Given the description of an element on the screen output the (x, y) to click on. 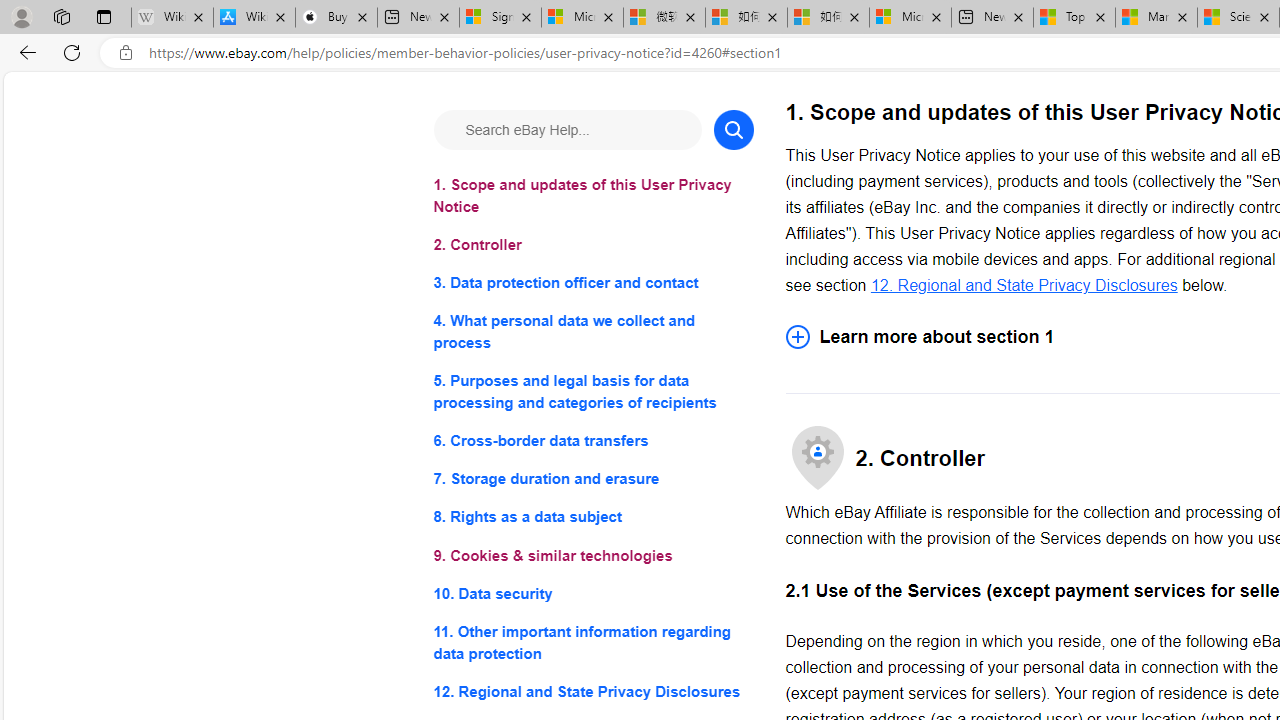
Search eBay Help... (566, 129)
4. What personal data we collect and process (592, 332)
2. Controller (592, 245)
3. Data protection officer and contact (592, 283)
Microsoft account | Account Checkup (910, 17)
3. Data protection officer and contact (592, 283)
10. Data security (592, 592)
7. Storage duration and erasure (592, 479)
7. Storage duration and erasure (592, 479)
